Given the description of an element on the screen output the (x, y) to click on. 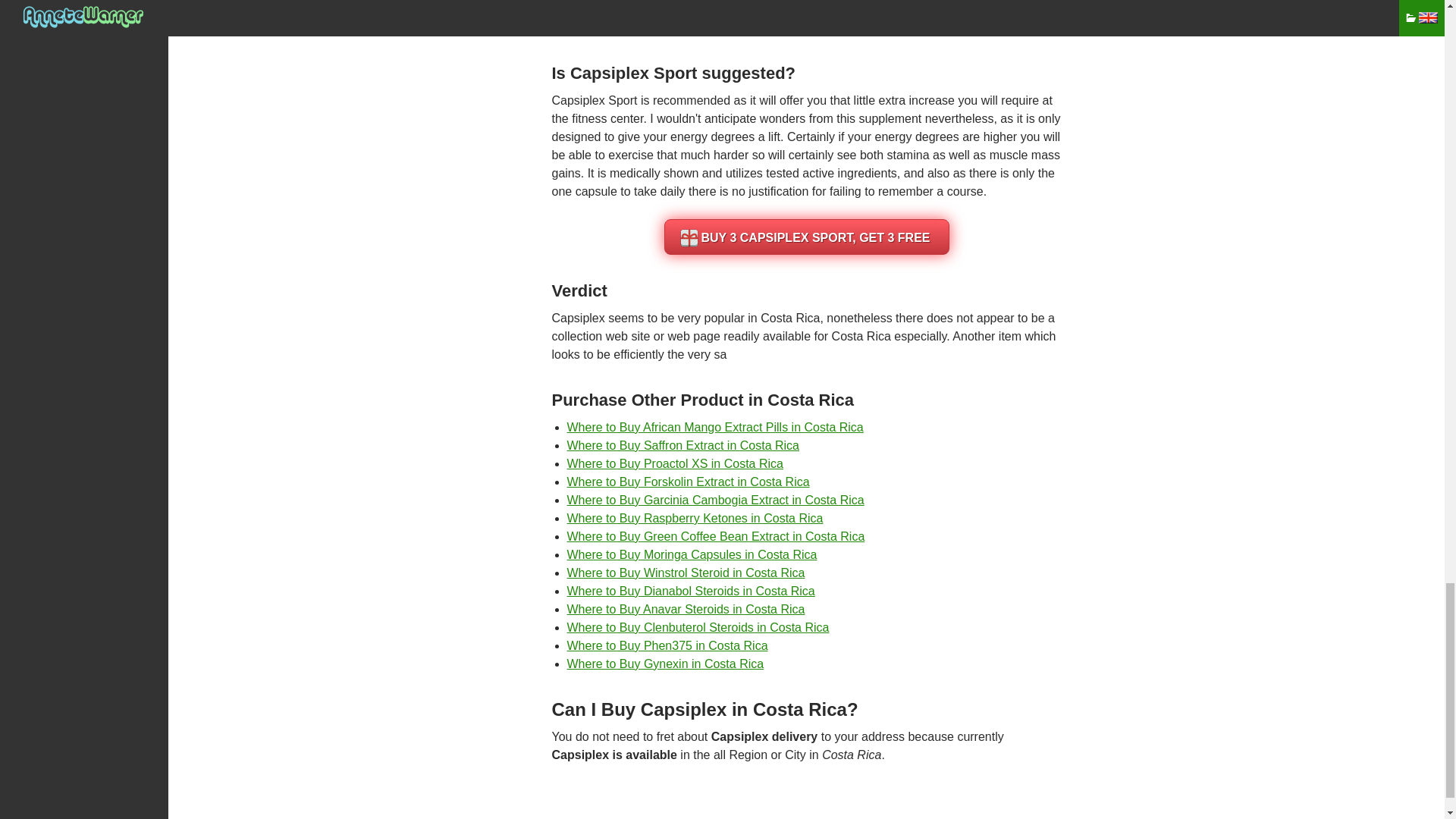
Where to Buy Raspberry Ketones in Costa Rica (695, 517)
Where to Buy African Mango Extract Pills in Costa Rica (715, 427)
Where to Buy Anavar Steroids in Costa Rica (686, 608)
Where to Buy Dianabol Steroids in Costa Rica (691, 590)
Where Can You Buy saffron-extract online Costa Rica (683, 445)
Where to Buy Garcinia Cambogia Extract in Costa Rica (715, 499)
Where to Buy Forskolin Extract in Costa Rica (688, 481)
Where to Buy Saffron Extract in Costa Rica (683, 445)
